Given the description of an element on the screen output the (x, y) to click on. 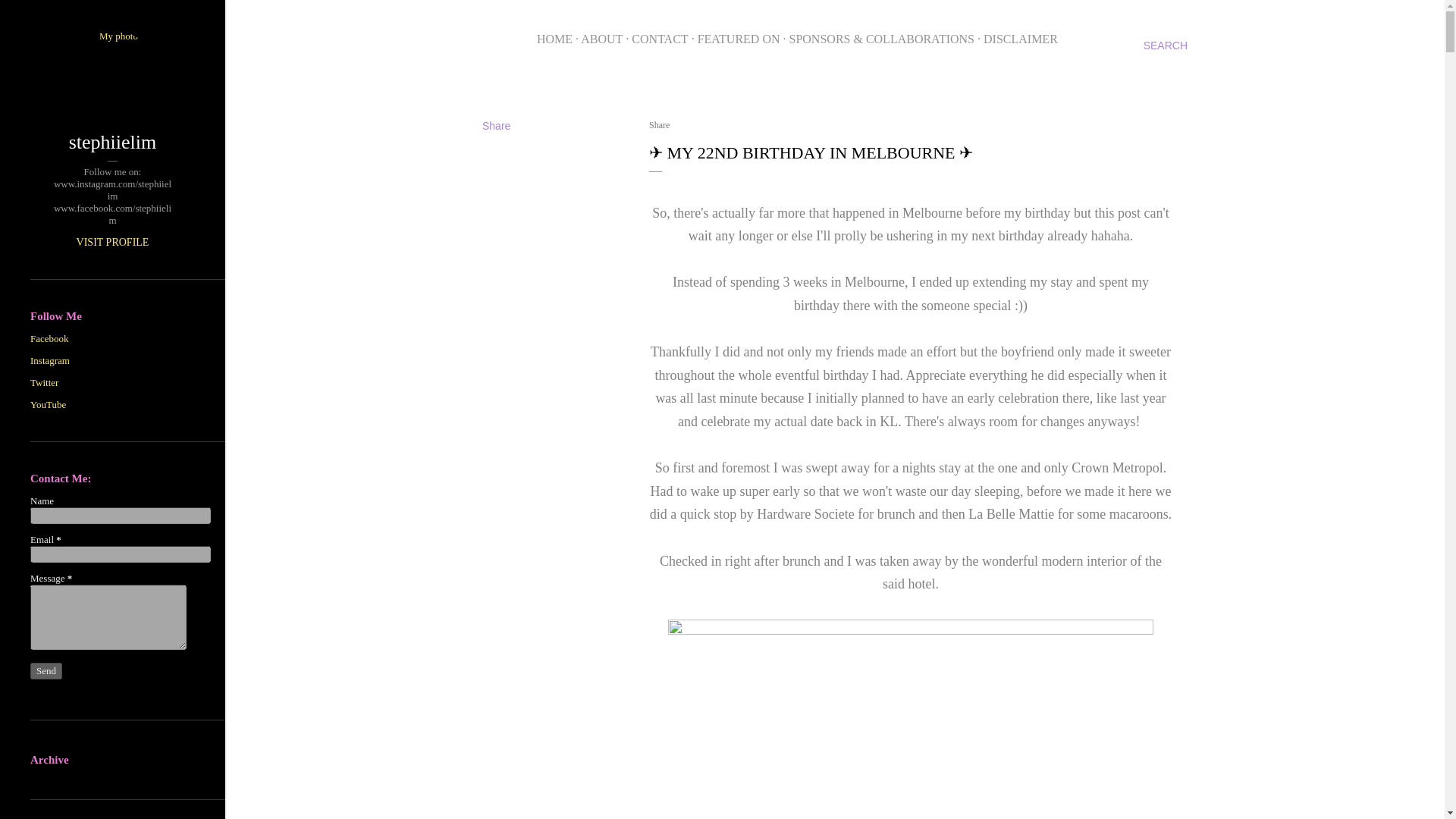
SEARCH (1165, 45)
FEATURED ON (738, 38)
Share (659, 125)
Share (496, 125)
CONTACT (659, 38)
DISCLAIMER (1021, 38)
ABOUT (601, 38)
HOME (554, 38)
Send (46, 670)
